Given the description of an element on the screen output the (x, y) to click on. 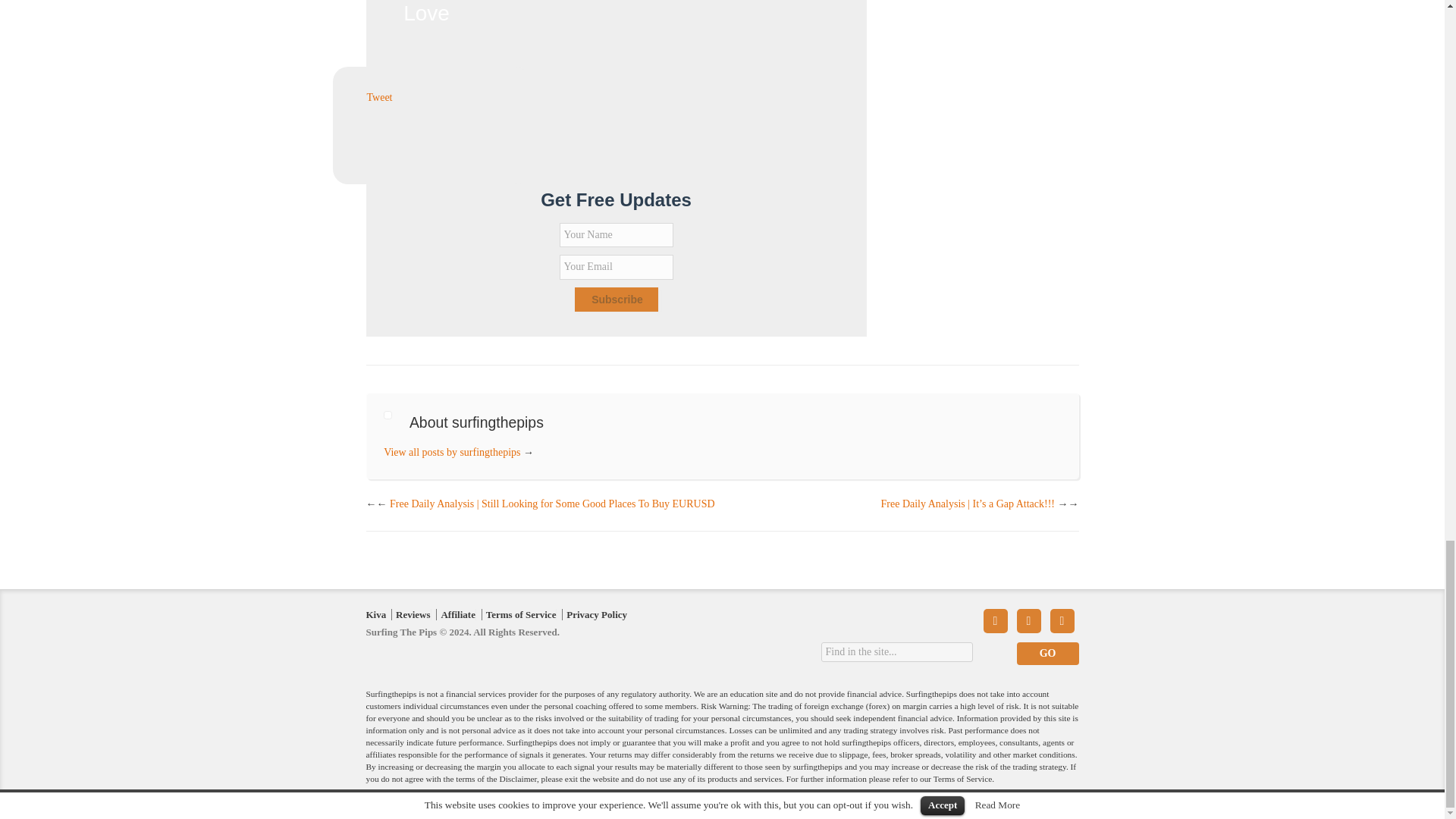
Go (1047, 653)
Subscribe (616, 299)
Kiva (375, 614)
Privacy Policy (596, 614)
Terms of Service (521, 614)
Subscribe (616, 299)
Affiliate (457, 614)
Go (1047, 653)
Reviews (413, 614)
Tweet (379, 97)
Go (1047, 653)
